Given the description of an element on the screen output the (x, y) to click on. 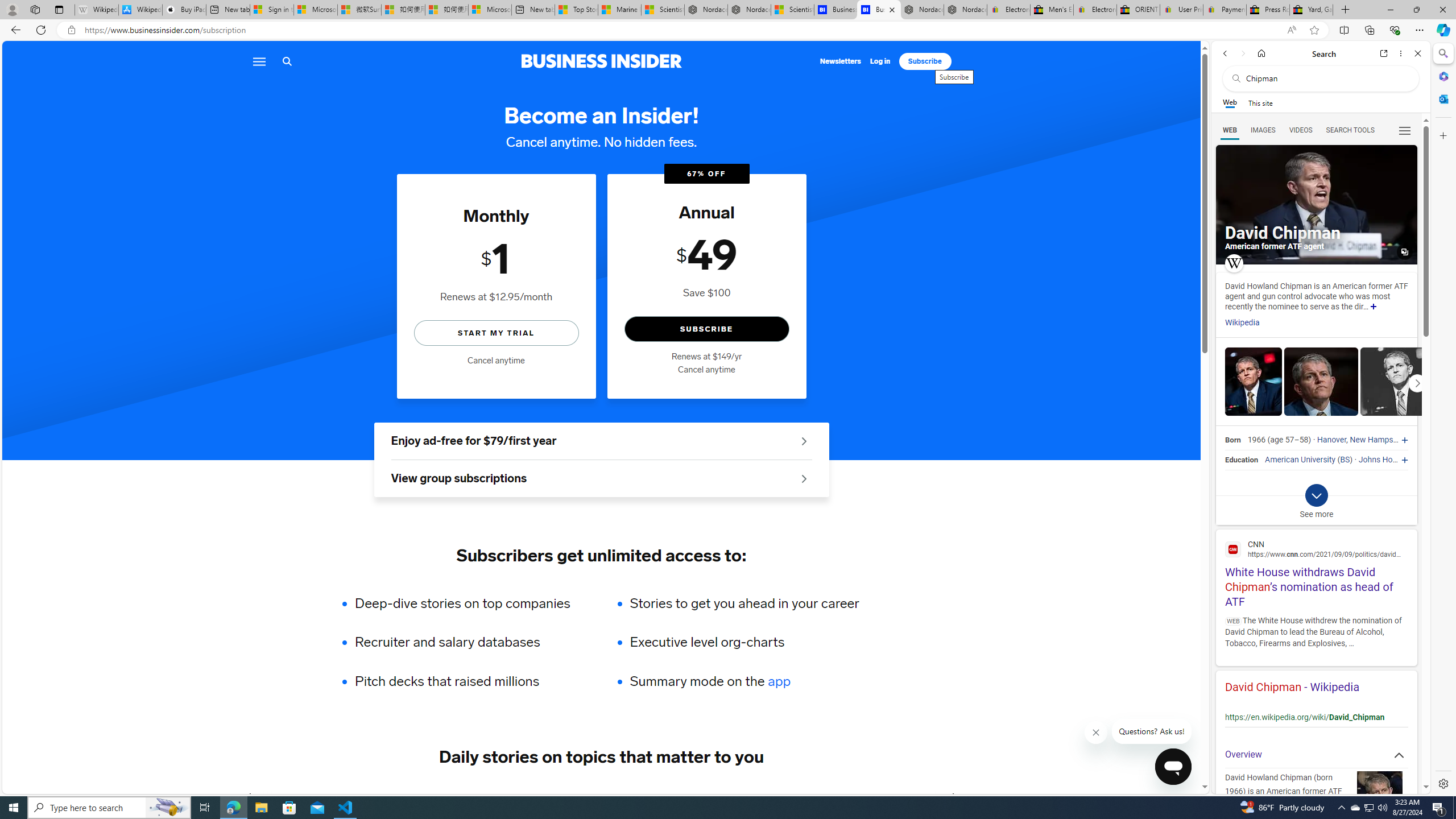
View group subscriptions See group offers (601, 478)
app (778, 681)
STRATEGY (890, 796)
Business Insider logo (601, 60)
Born (1232, 439)
View group subscriptions (601, 478)
Subscribe (925, 61)
Business Insider logo (601, 60)
